Given the description of an element on the screen output the (x, y) to click on. 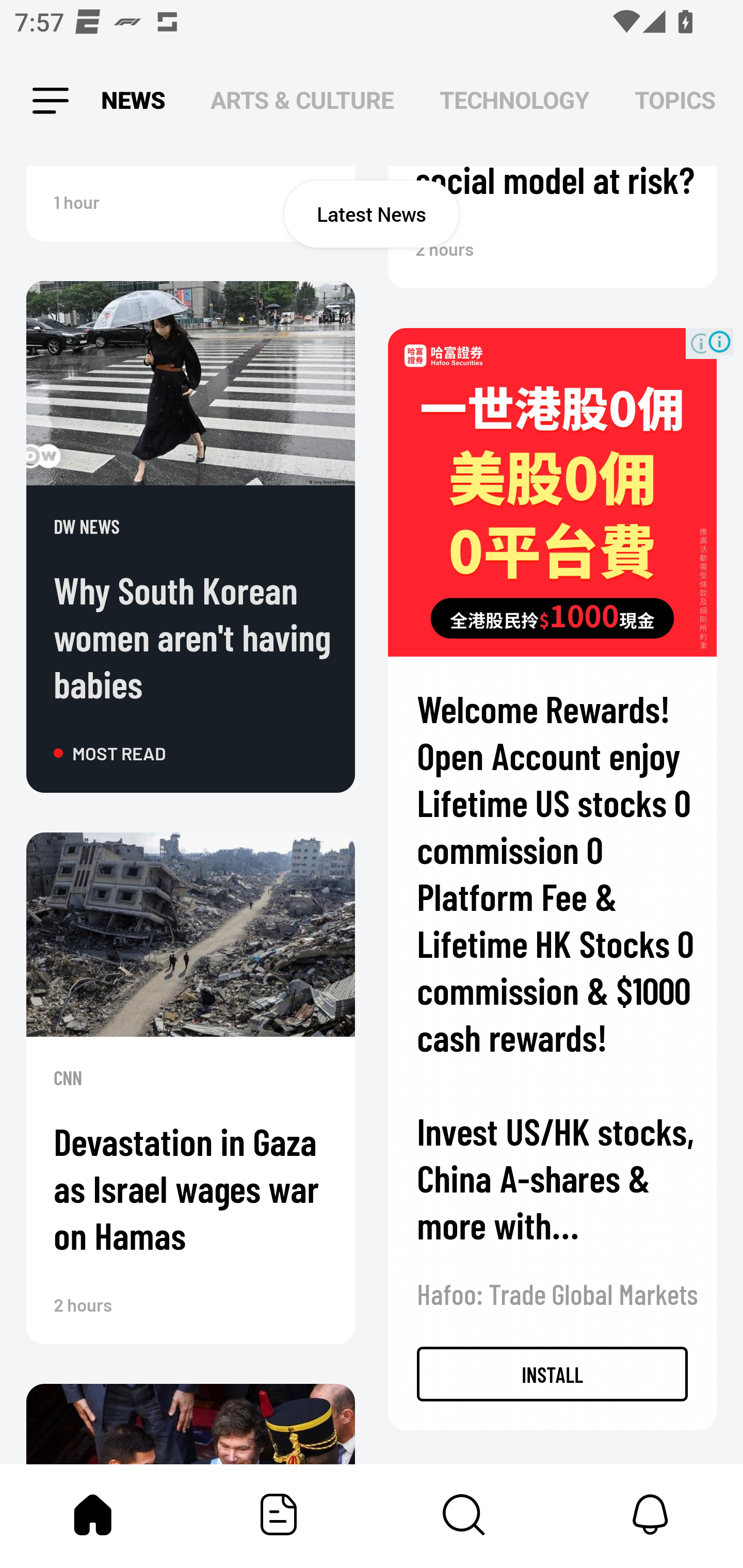
Leading Icon (48, 101)
ARTS & CULTURE (302, 100)
TECHNOLOGY (514, 100)
TOPICS (675, 100)
Latest News (371, 213)
Ad Choices Icon (719, 341)
Featured (278, 1514)
Content Store (464, 1514)
Notifications (650, 1514)
